Given the description of an element on the screen output the (x, y) to click on. 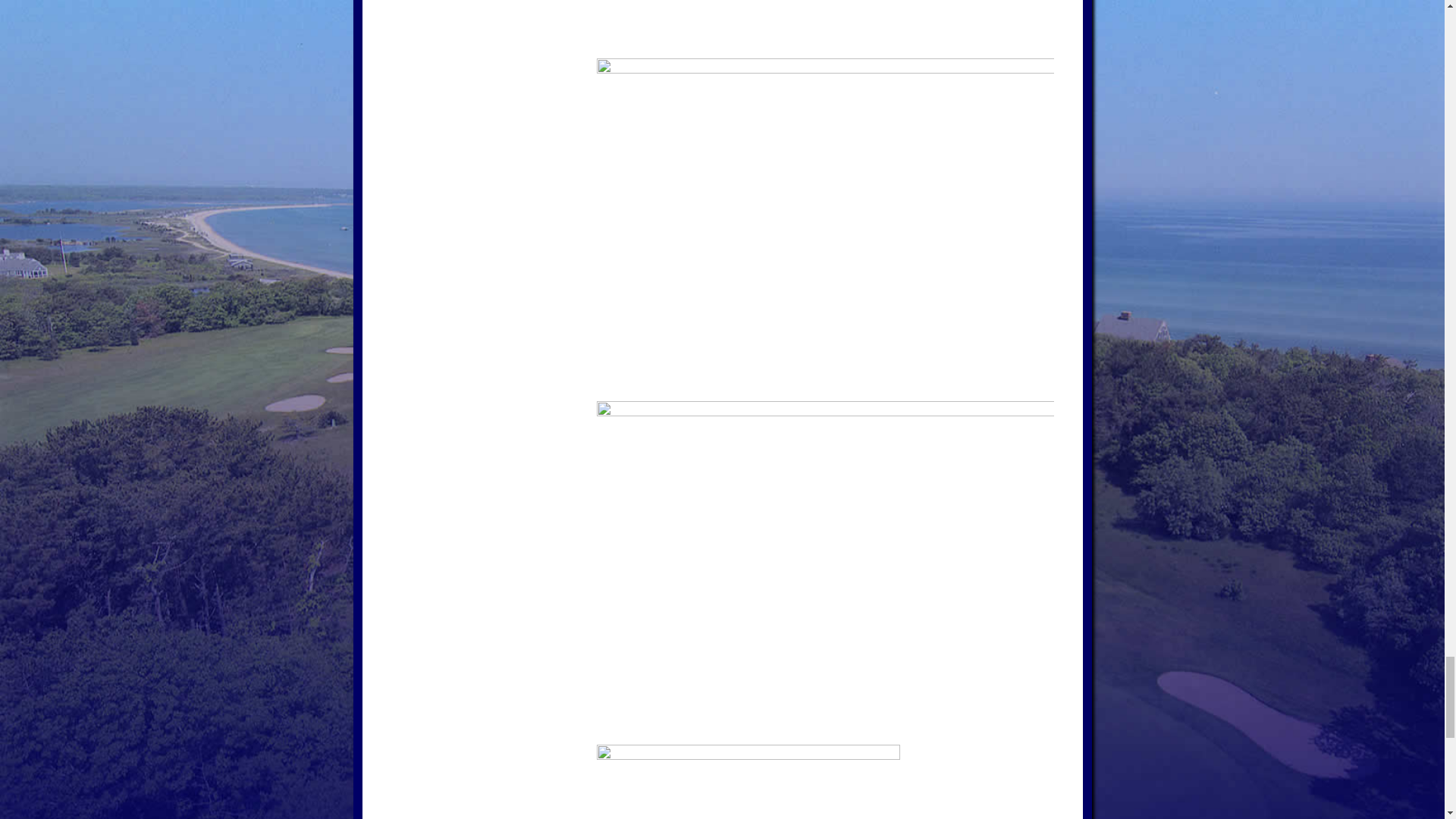
DSCN0387 (823, 29)
